Given the description of an element on the screen output the (x, y) to click on. 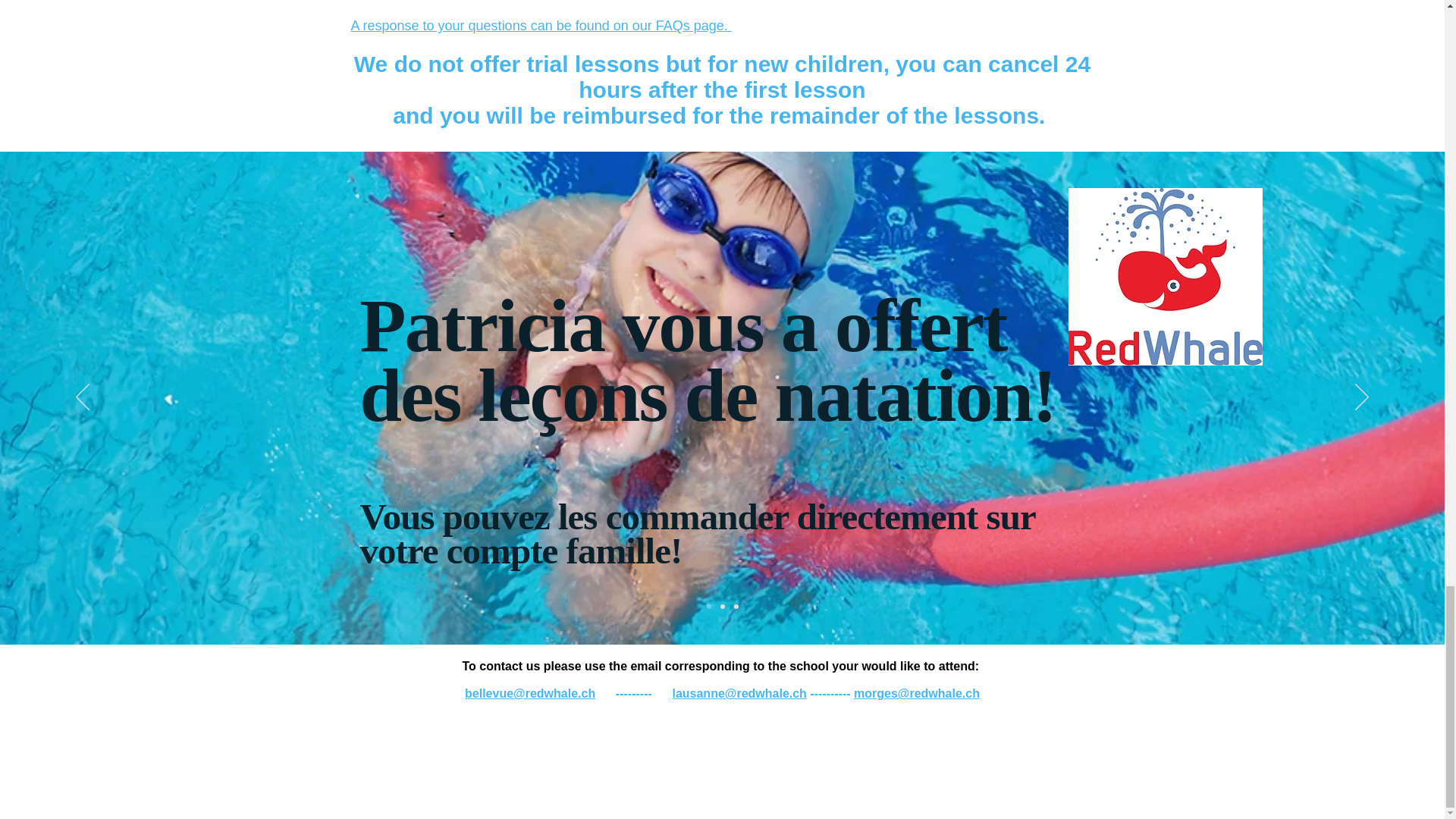
A response to your questions can be found on our FAQs page.  (540, 25)
